Given the description of an element on the screen output the (x, y) to click on. 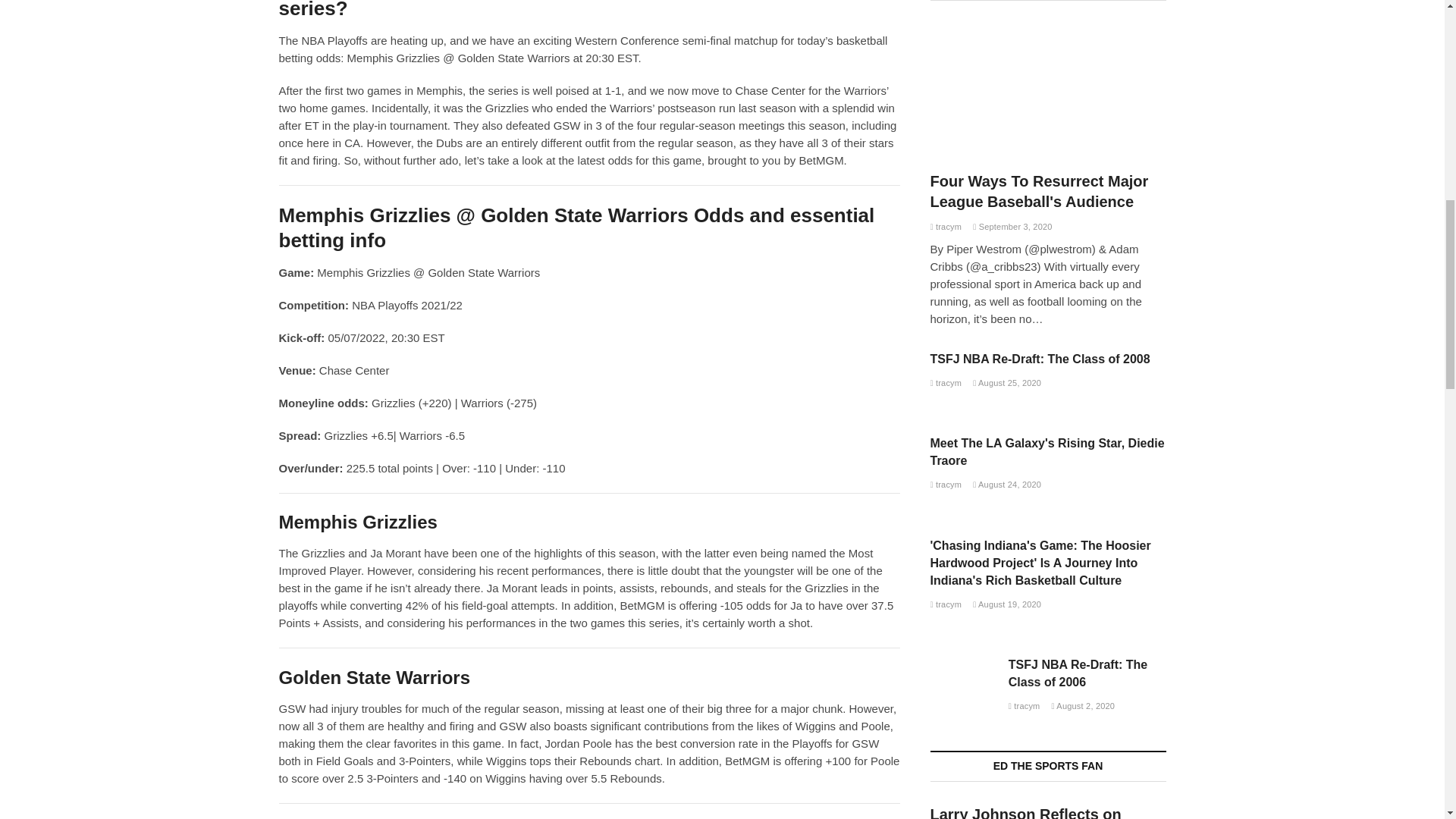
Four Ways To Resurrect Major League Baseball's Audience (1039, 190)
TSFJ NBA Re-Draft: The Class of 2008 (945, 382)
September 3, 2020 (1011, 225)
Four Ways To Resurrect Major League Baseball's Audience (1048, 89)
Four Ways To Resurrect Major League Baseball's Audience (945, 225)
TSFJ NBA Re-Draft: The Class of 2008 (1040, 358)
